Given the description of an element on the screen output the (x, y) to click on. 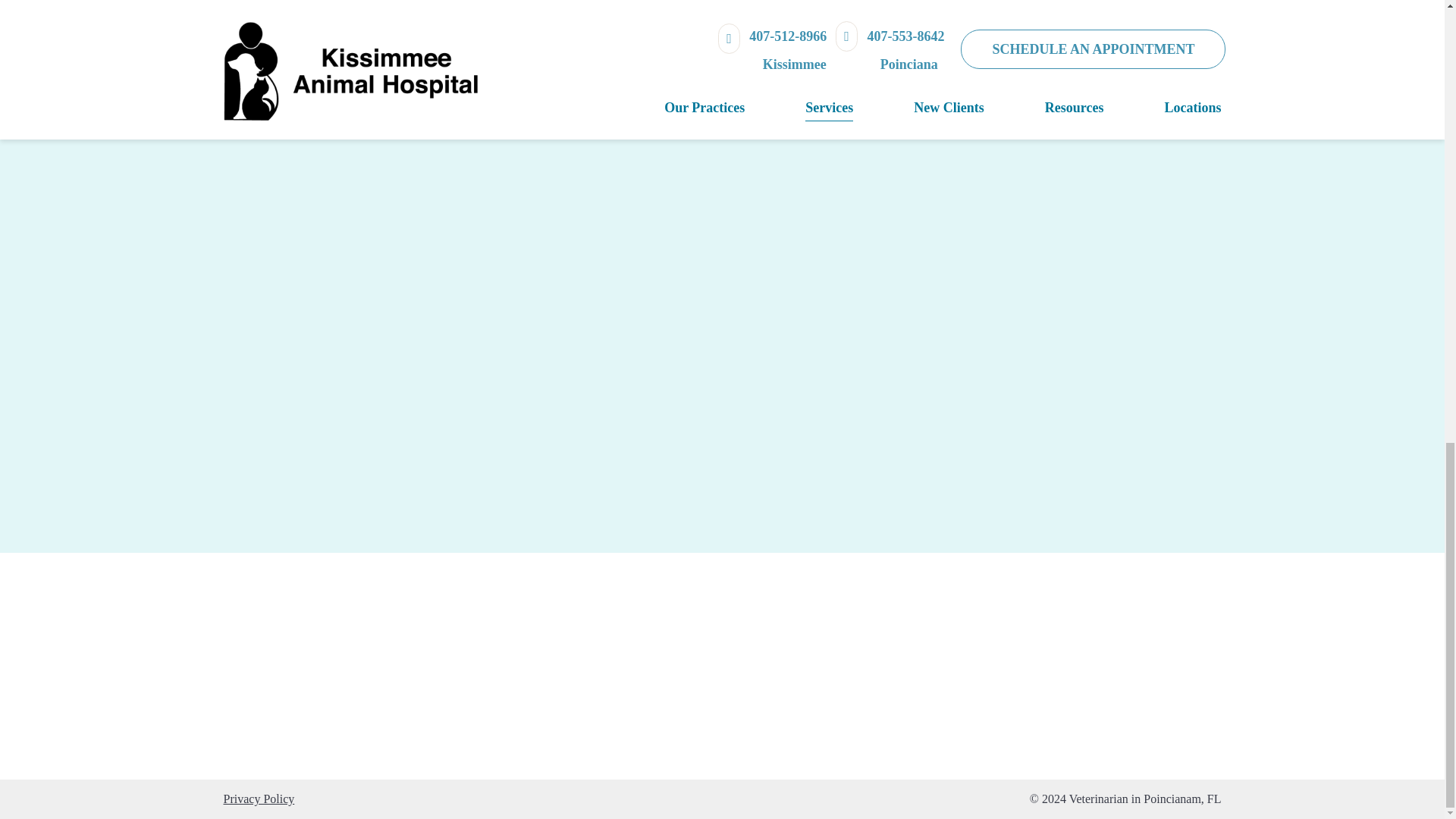
SCHEDULE AN APPOINTMENT (506, 11)
veterinarian with animals in little rock (929, 2)
